Given the description of an element on the screen output the (x, y) to click on. 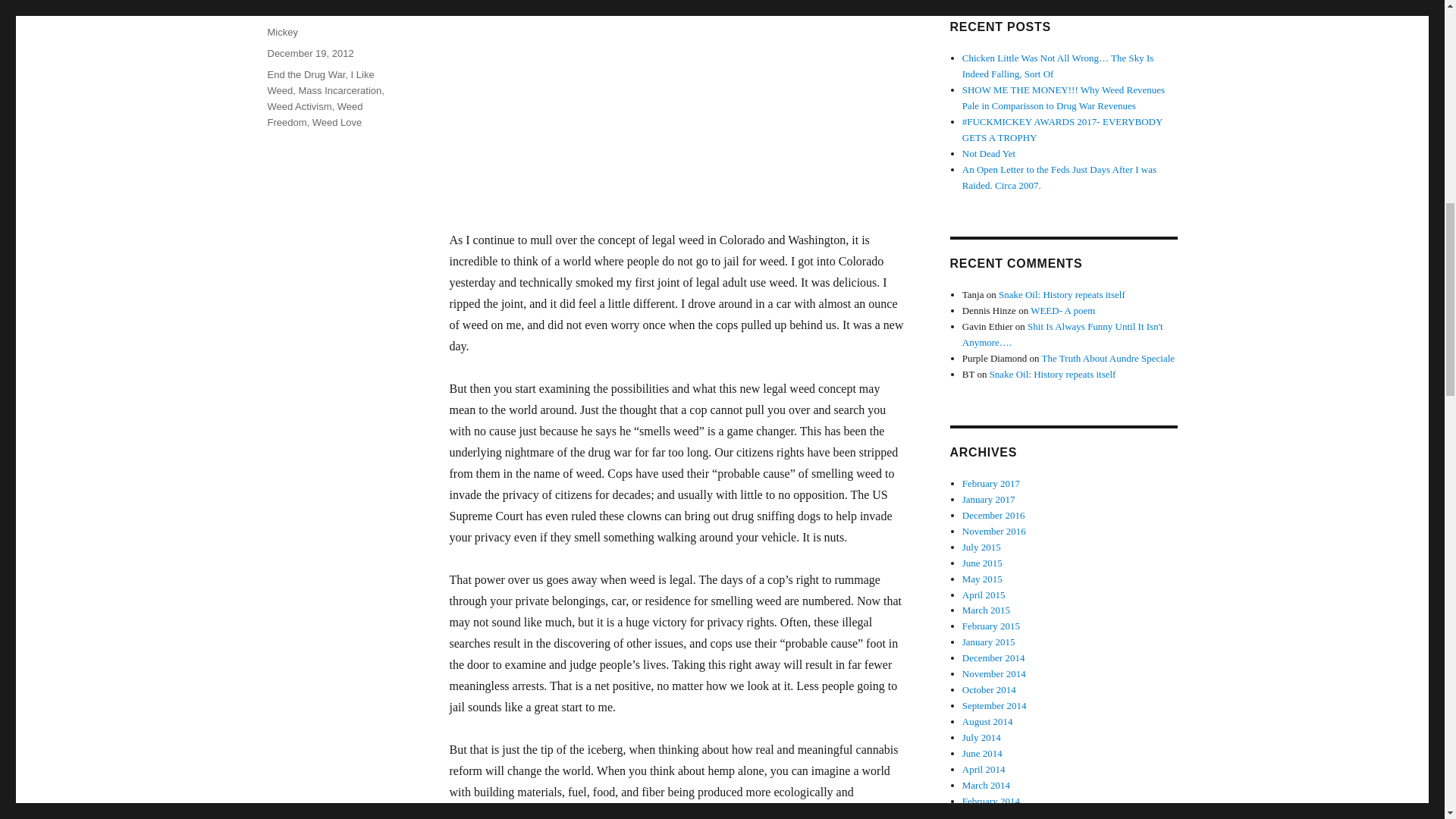
January 2017 (988, 499)
bigger.1 (660, 104)
Weed Love (337, 122)
July 2015 (981, 546)
Mickey (281, 31)
Weed Activism (298, 106)
Weed Freedom (314, 113)
February 2017 (991, 482)
